Given the description of an element on the screen output the (x, y) to click on. 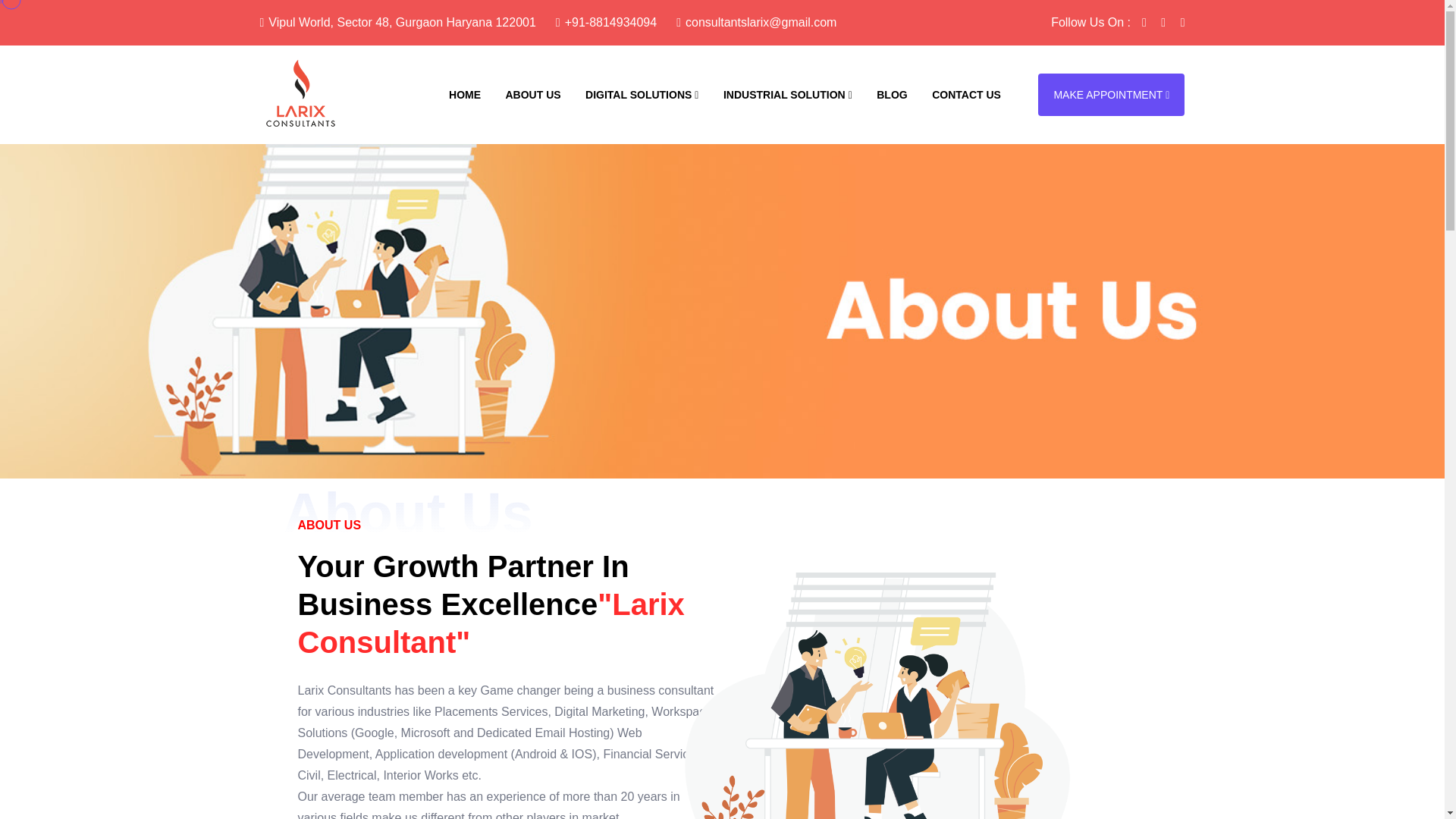
DIGITAL SOLUTIONS (641, 94)
